Given the description of an element on the screen output the (x, y) to click on. 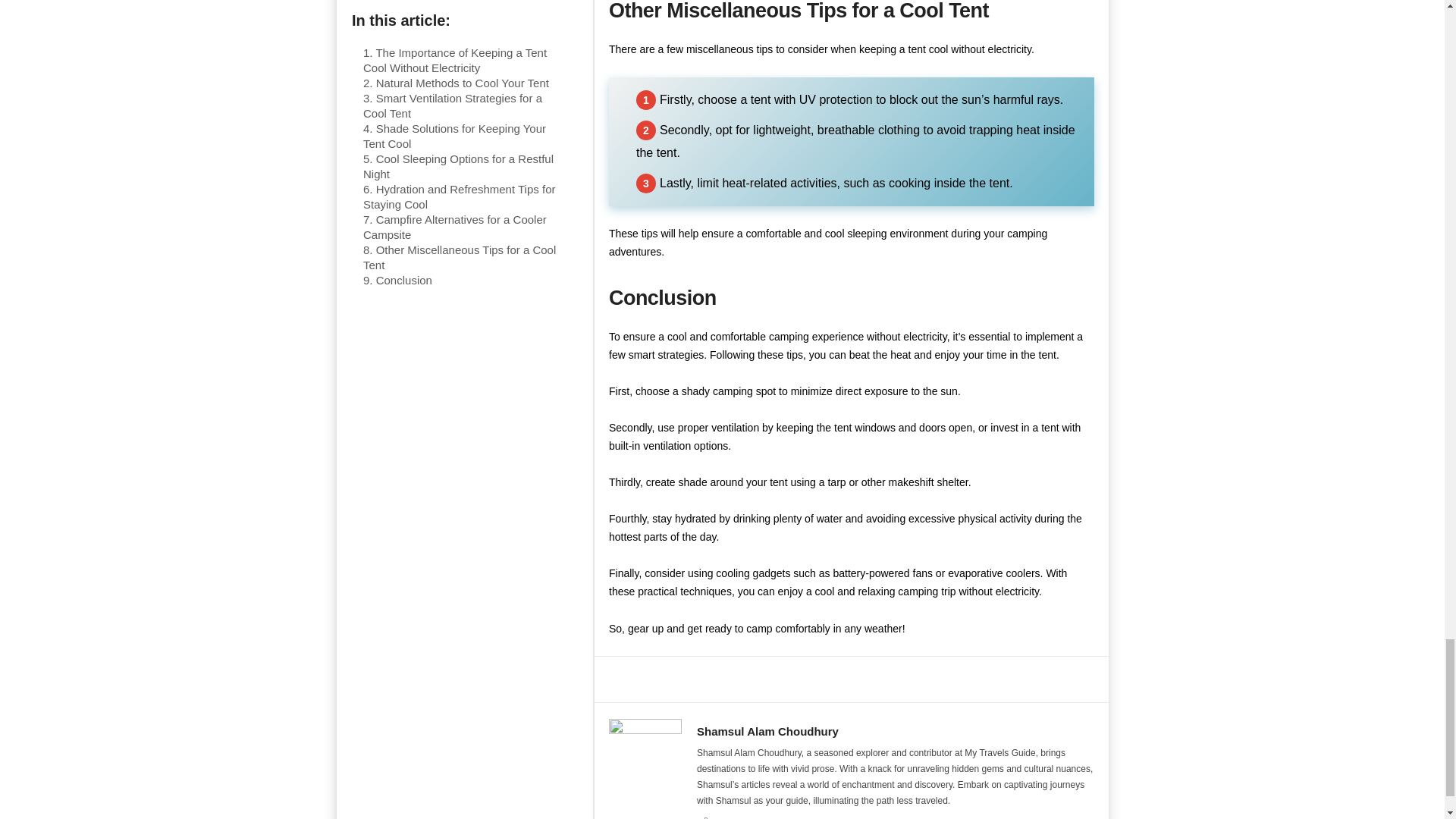
Facebook (705, 817)
